Given the description of an element on the screen output the (x, y) to click on. 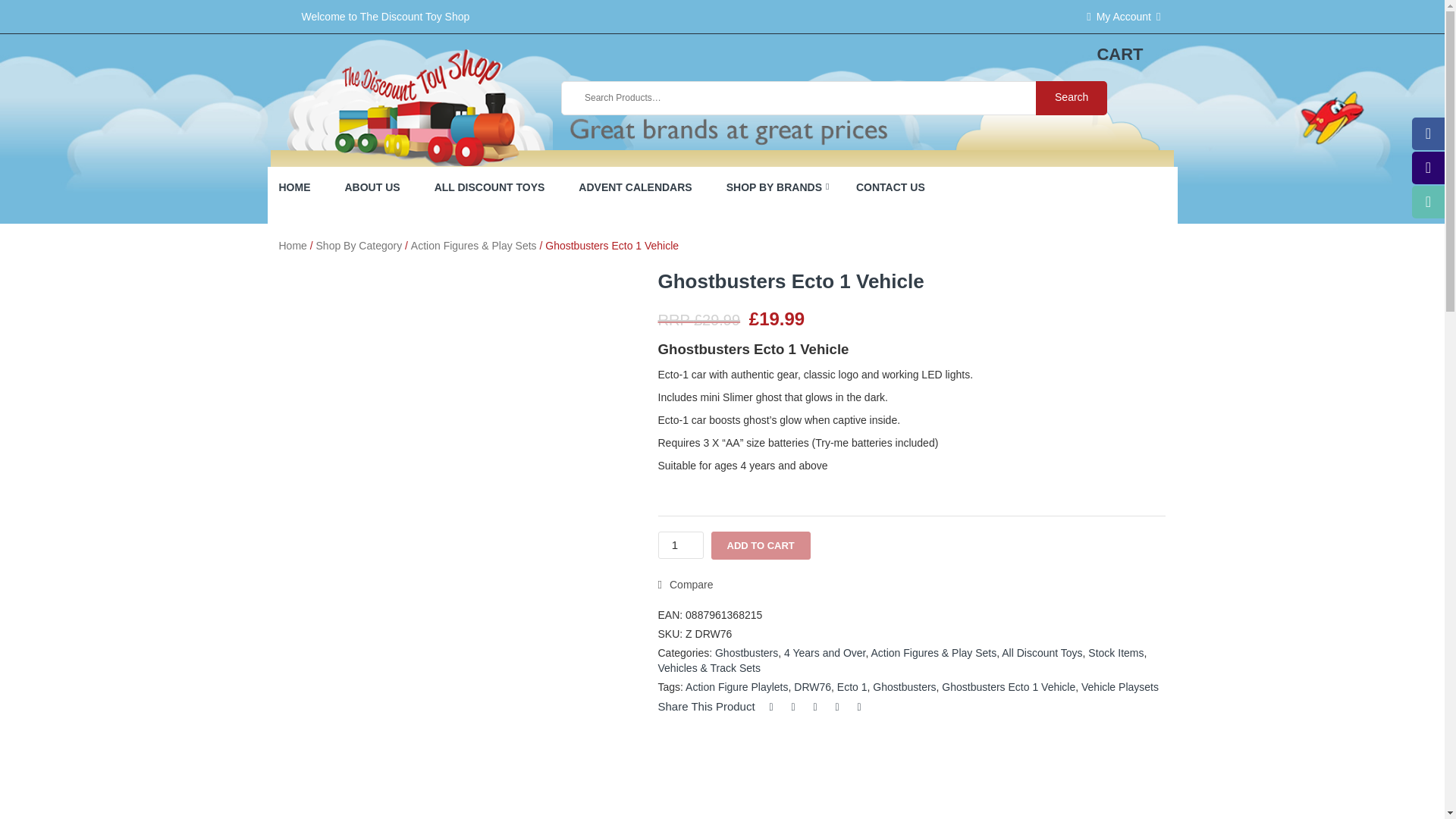
GHOST 5 (457, 744)
GHOST 1 (456, 406)
GHOST 4 (337, 744)
GHOST 3 (575, 615)
GHOST 1 (337, 615)
SHOP BY BRANDS (772, 187)
Search (1070, 98)
Qty (680, 544)
GHOST 2 (457, 615)
Home (293, 246)
